Given the description of an element on the screen output the (x, y) to click on. 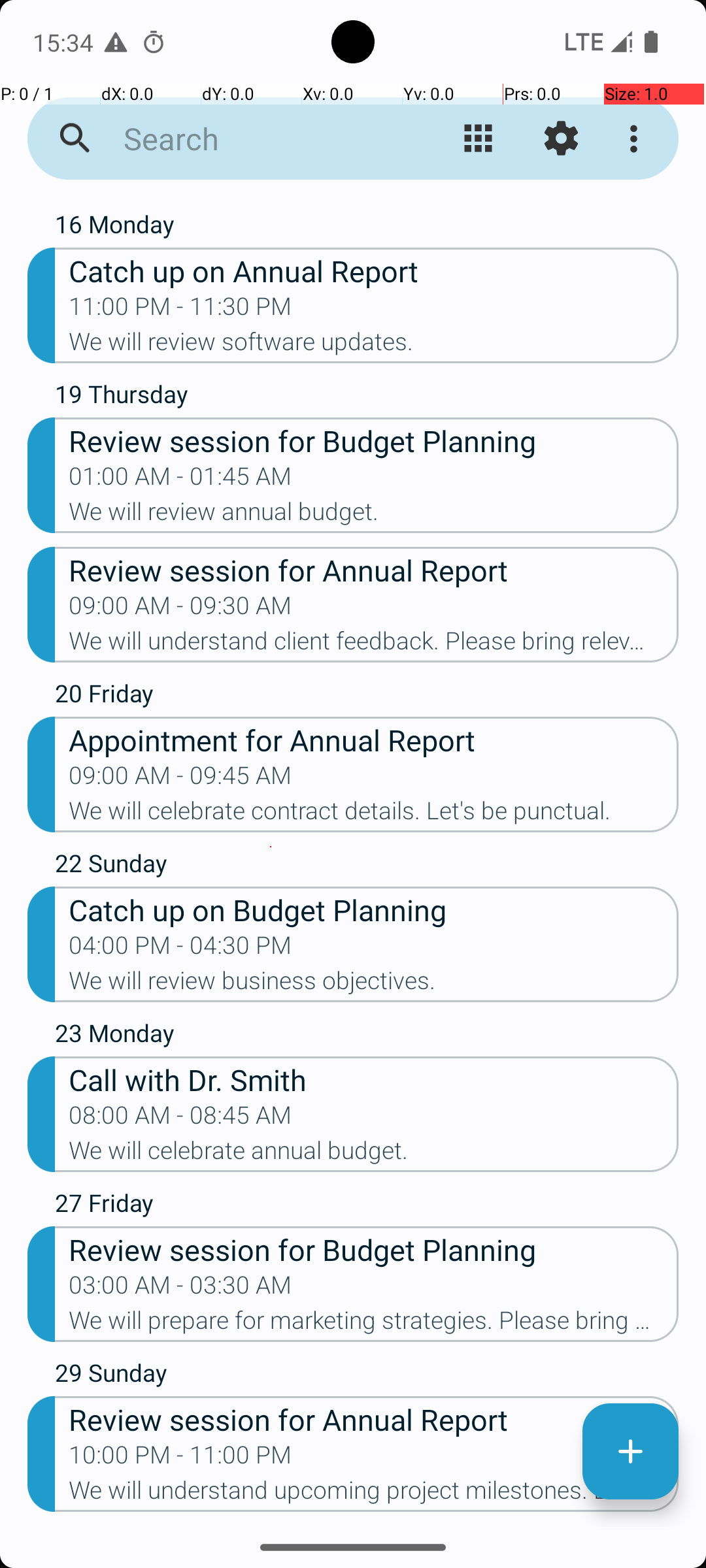
OCTOBER Element type: android.widget.TextView (353, 200)
16 Monday Element type: android.widget.TextView (366, 227)
19 Thursday Element type: android.widget.TextView (366, 396)
20 Friday Element type: android.widget.TextView (366, 696)
22 Sunday Element type: android.widget.TextView (366, 866)
23 Monday Element type: android.widget.TextView (366, 1035)
27 Friday Element type: android.widget.TextView (366, 1205)
29 Sunday Element type: android.widget.TextView (366, 1375)
31 Tuesday Element type: android.widget.TextView (366, 1525)
Catch up on Annual Report Element type: android.widget.TextView (373, 269)
11:00 PM - 11:30 PM Element type: android.widget.TextView (179, 309)
We will review software updates. Element type: android.widget.TextView (373, 345)
Review session for Budget Planning Element type: android.widget.TextView (373, 439)
01:00 AM - 01:45 AM Element type: android.widget.TextView (179, 479)
We will review annual budget. Element type: android.widget.TextView (373, 515)
Review session for Annual Report Element type: android.widget.TextView (373, 568)
09:00 AM - 09:30 AM Element type: android.widget.TextView (179, 609)
We will understand client feedback. Please bring relevant documents. Element type: android.widget.TextView (373, 644)
Appointment for Annual Report Element type: android.widget.TextView (373, 738)
09:00 AM - 09:45 AM Element type: android.widget.TextView (179, 779)
We will celebrate contract details. Let's be punctual. Element type: android.widget.TextView (373, 814)
Catch up on Budget Planning Element type: android.widget.TextView (373, 908)
04:00 PM - 04:30 PM Element type: android.widget.TextView (179, 948)
We will review business objectives. Element type: android.widget.TextView (373, 984)
Call with Dr. Smith Element type: android.widget.TextView (373, 1078)
08:00 AM - 08:45 AM Element type: android.widget.TextView (179, 1118)
We will celebrate annual budget. Element type: android.widget.TextView (373, 1154)
03:00 AM - 03:30 AM Element type: android.widget.TextView (179, 1288)
We will prepare for marketing strategies. Please bring relevant documents. Element type: android.widget.TextView (373, 1323)
10:00 PM - 11:00 PM Element type: android.widget.TextView (179, 1458)
We will understand upcoming project milestones. Let's be punctual. Element type: android.widget.TextView (373, 1493)
